Given the description of an element on the screen output the (x, y) to click on. 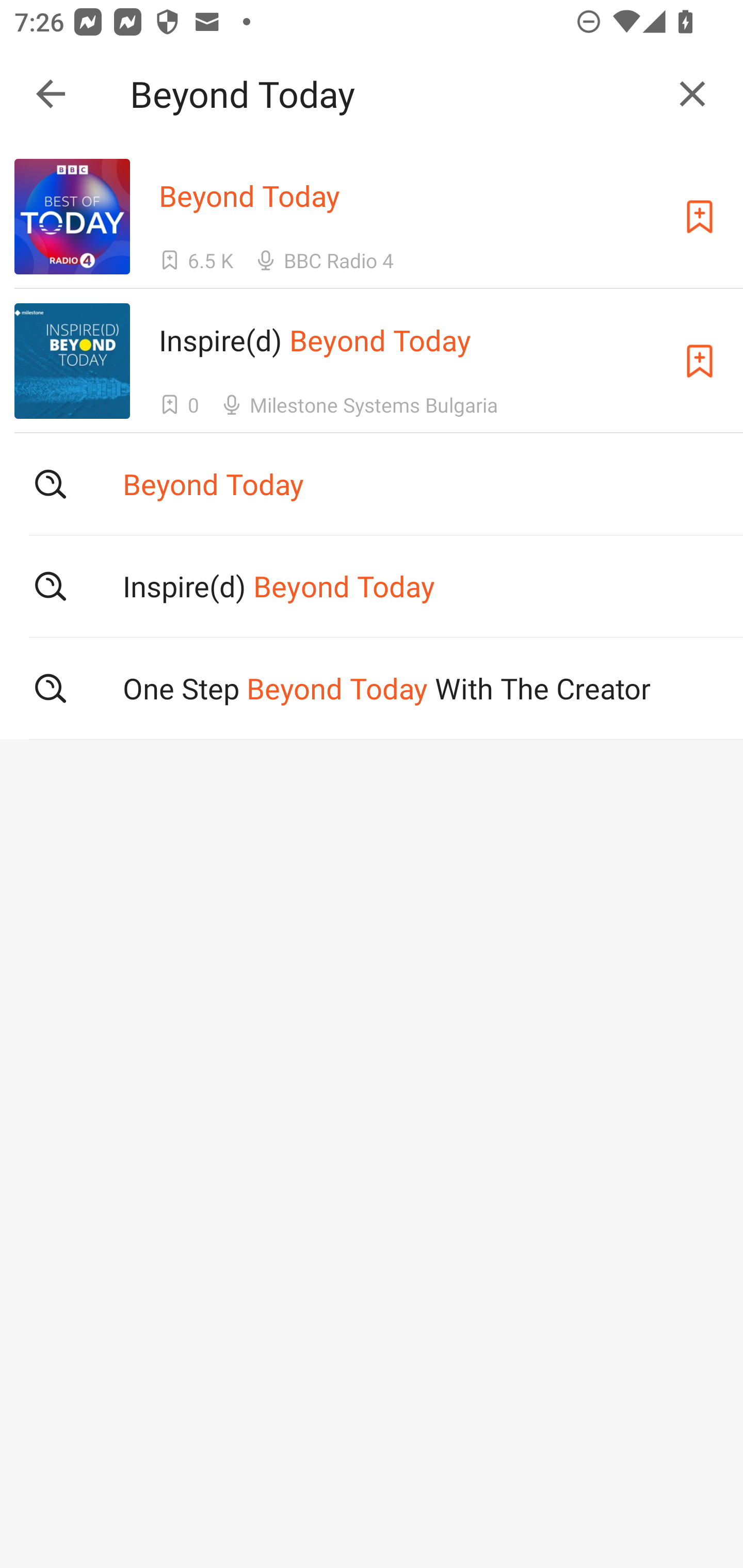
Collapse (50, 93)
Clear query (692, 93)
Beyond Today (393, 94)
Subscribe (699, 216)
Subscribe (699, 360)
 Beyond Today (371, 483)
 Inspire(d) Beyond Today (371, 585)
 One Step Beyond Today With The Creator (371, 688)
